Given the description of an element on the screen output the (x, y) to click on. 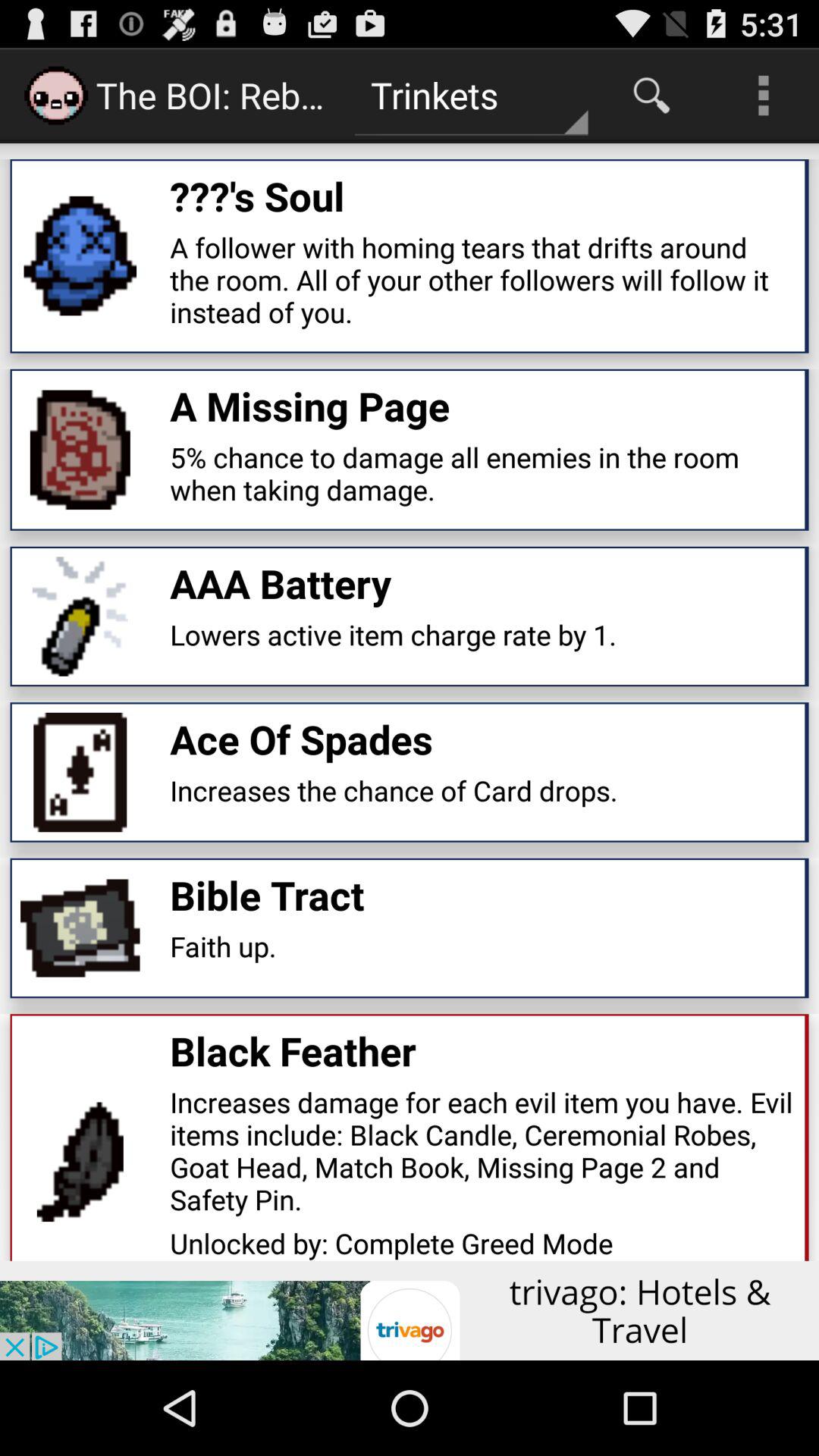
go to advertisement page (409, 1310)
